Given the description of an element on the screen output the (x, y) to click on. 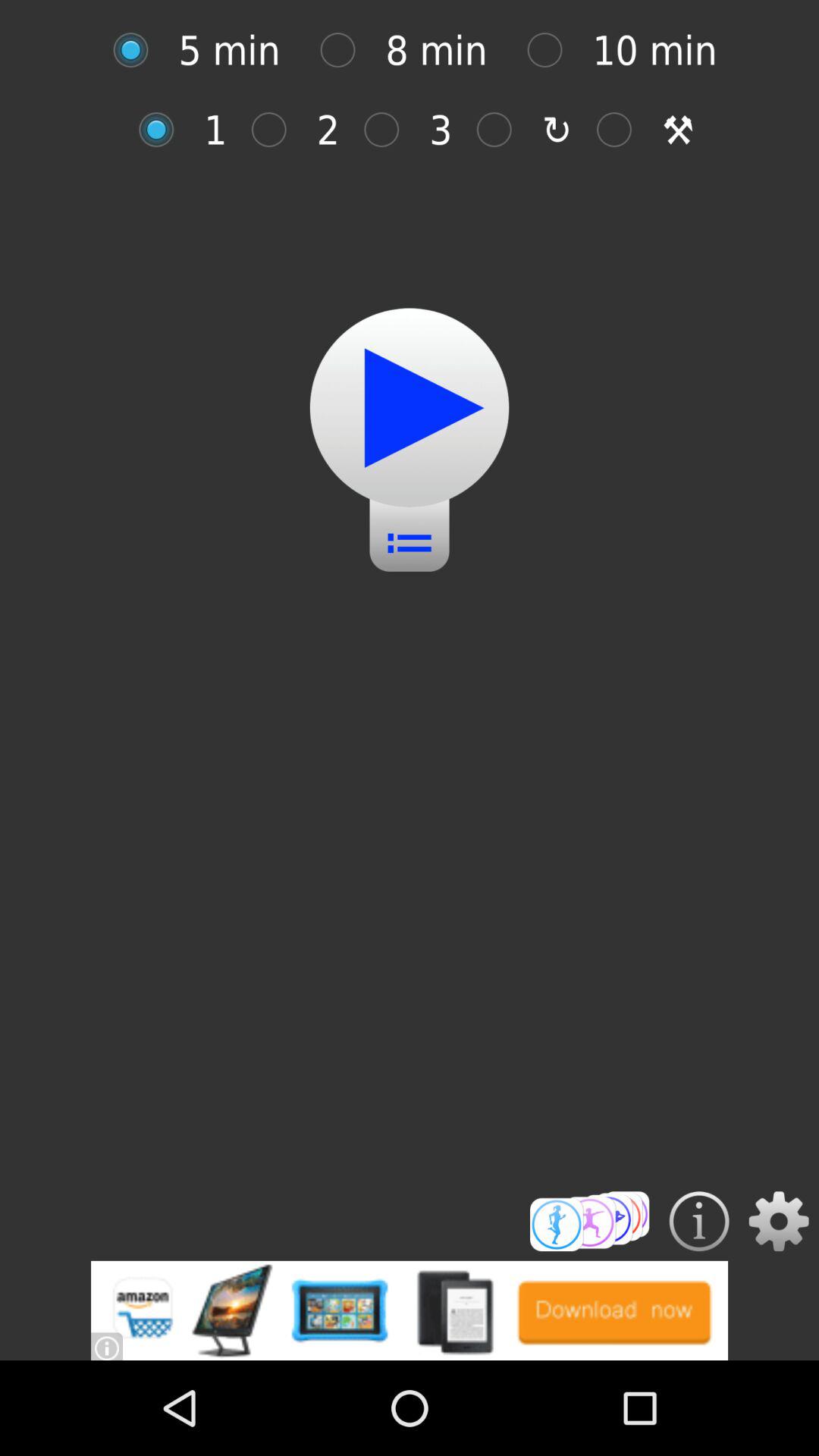
set time to 5 minutes (138, 49)
